Given the description of an element on the screen output the (x, y) to click on. 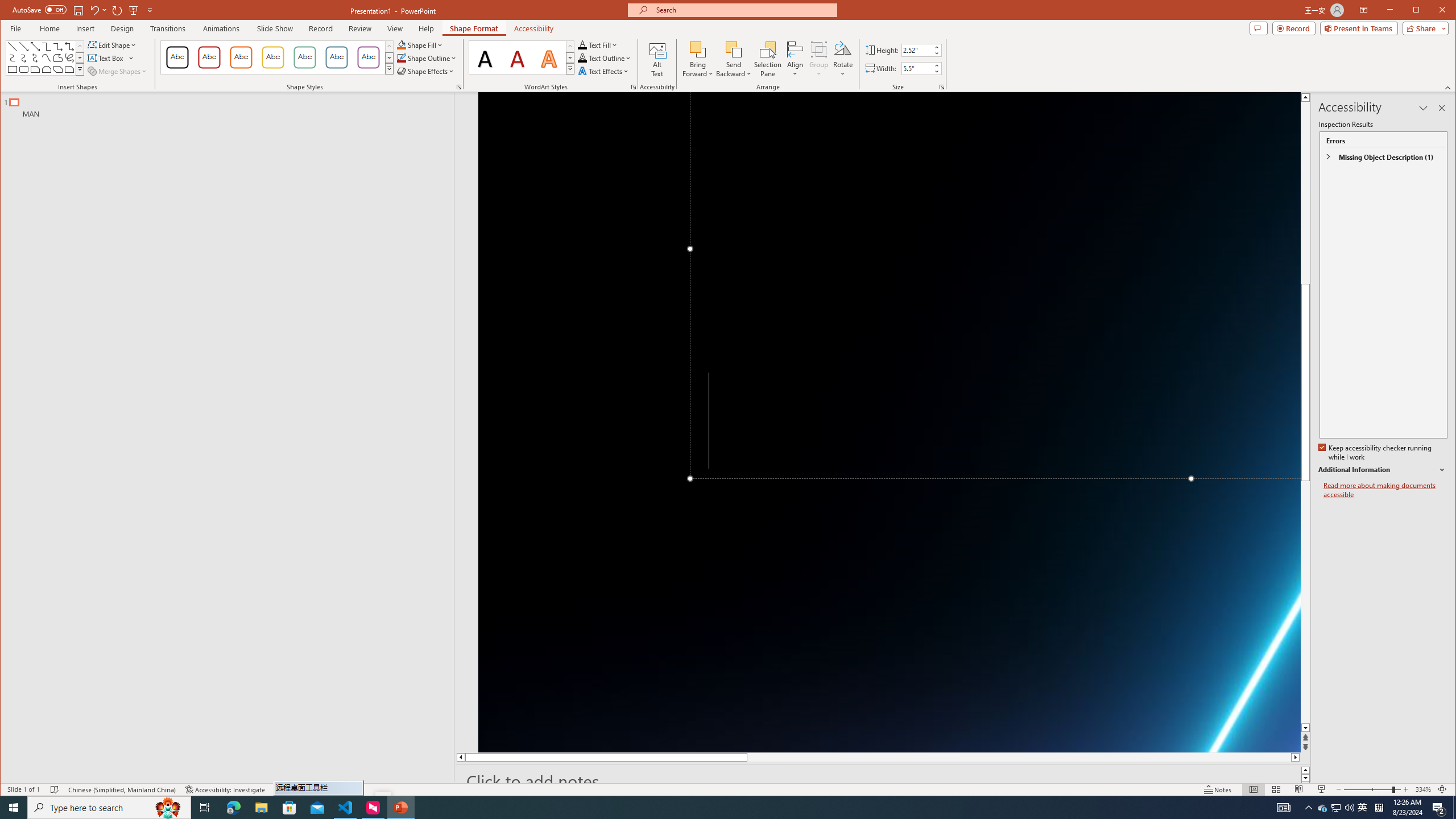
Colored Outline - Purple, Accent 6 (368, 57)
Neon laser lights aligned to form a triangle (889, 421)
Selection Pane... (767, 59)
